Given the description of an element on the screen output the (x, y) to click on. 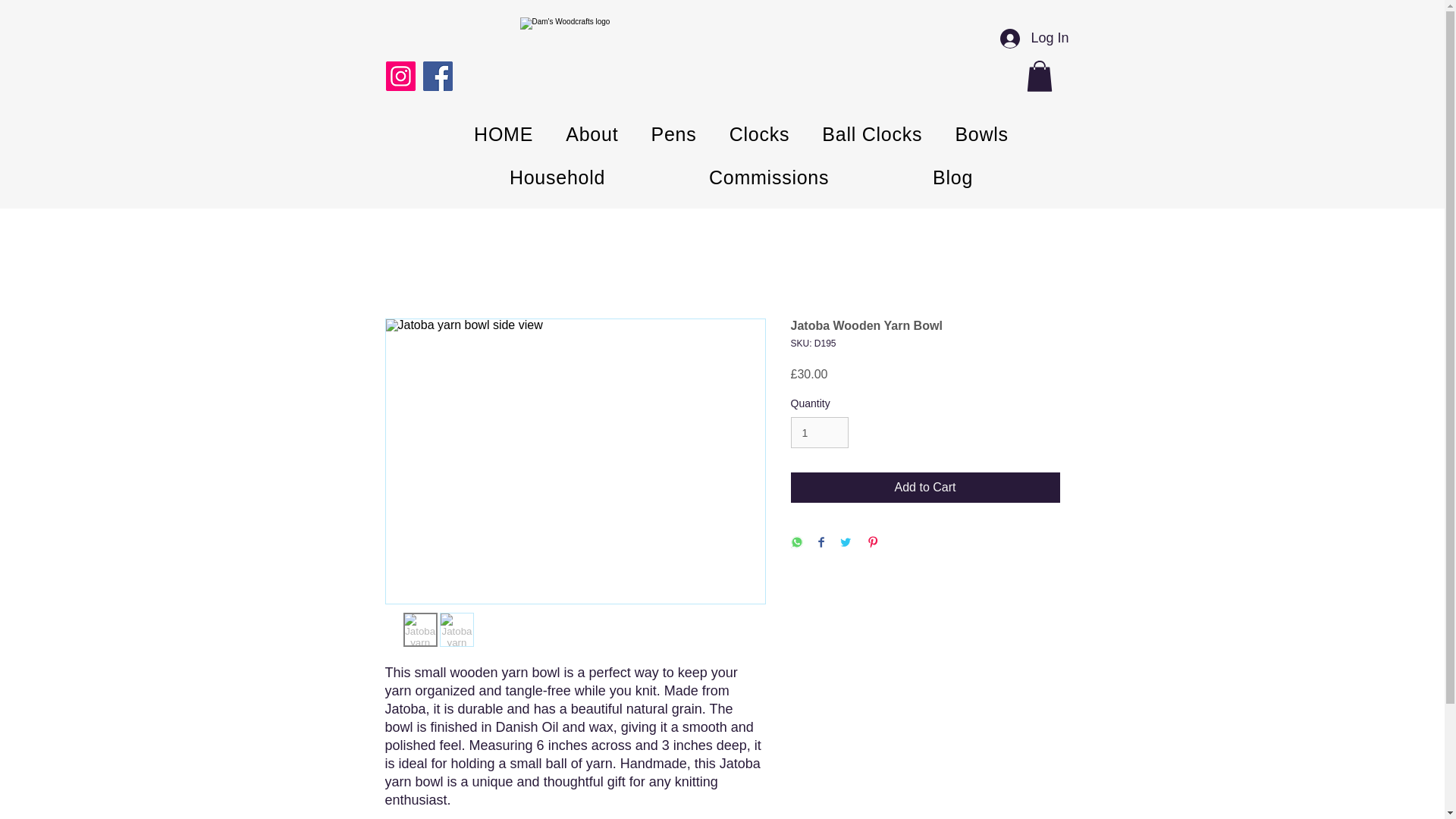
Pens (673, 134)
Blog (952, 177)
About (592, 134)
Add to Cart (924, 487)
Bowls (982, 134)
Household (557, 177)
Ball Clocks (872, 134)
Clocks (759, 134)
1 (818, 431)
HOME (504, 134)
Commissions (769, 177)
Log In (1034, 38)
